Given the description of an element on the screen output the (x, y) to click on. 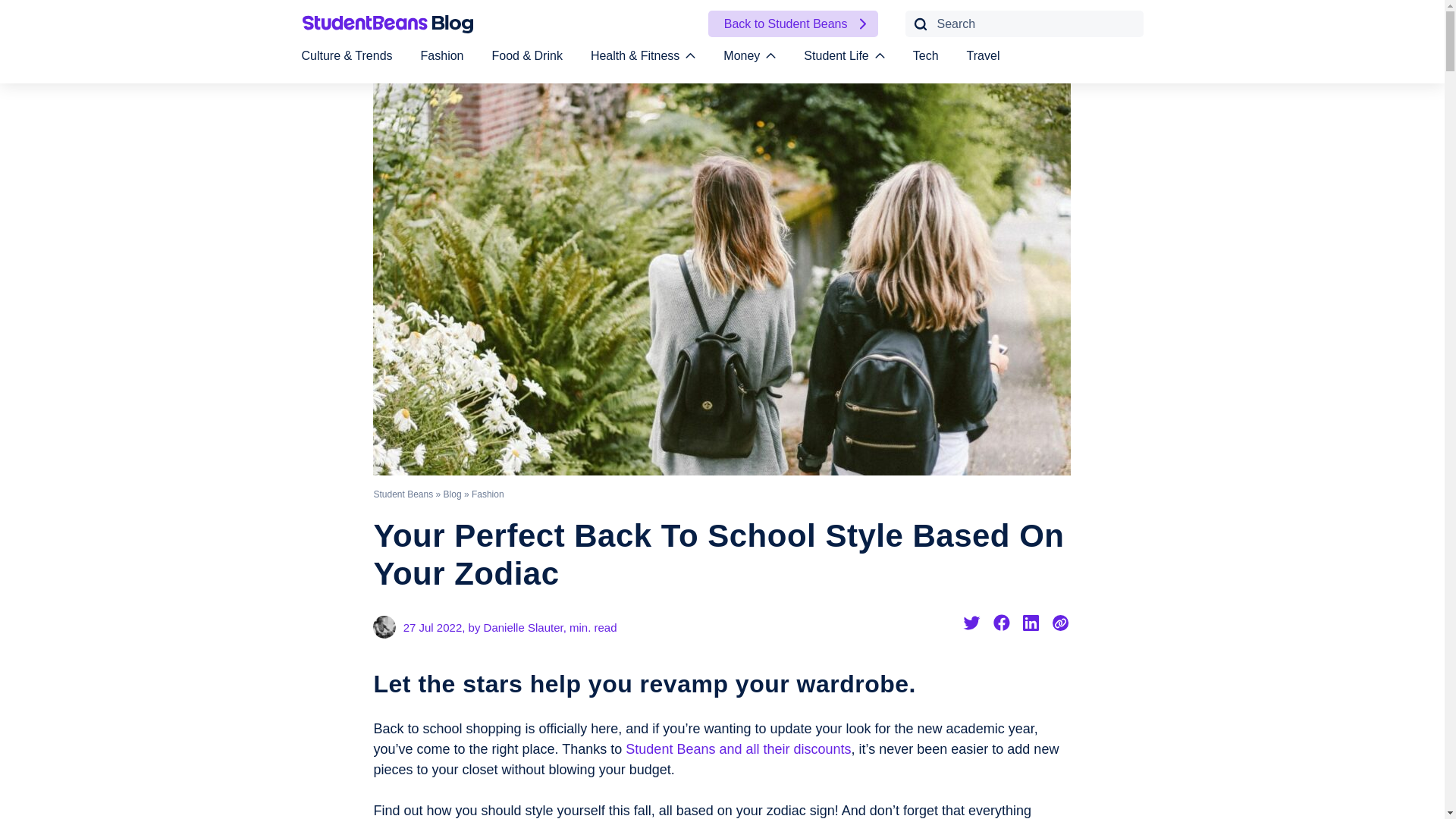
Money (749, 55)
Back to Student Beans (792, 23)
Travel (983, 55)
Student Life (843, 55)
Student Beans Blog (387, 23)
Tech (925, 55)
Student Beans Blog (387, 28)
Fashion (442, 55)
